Given the description of an element on the screen output the (x, y) to click on. 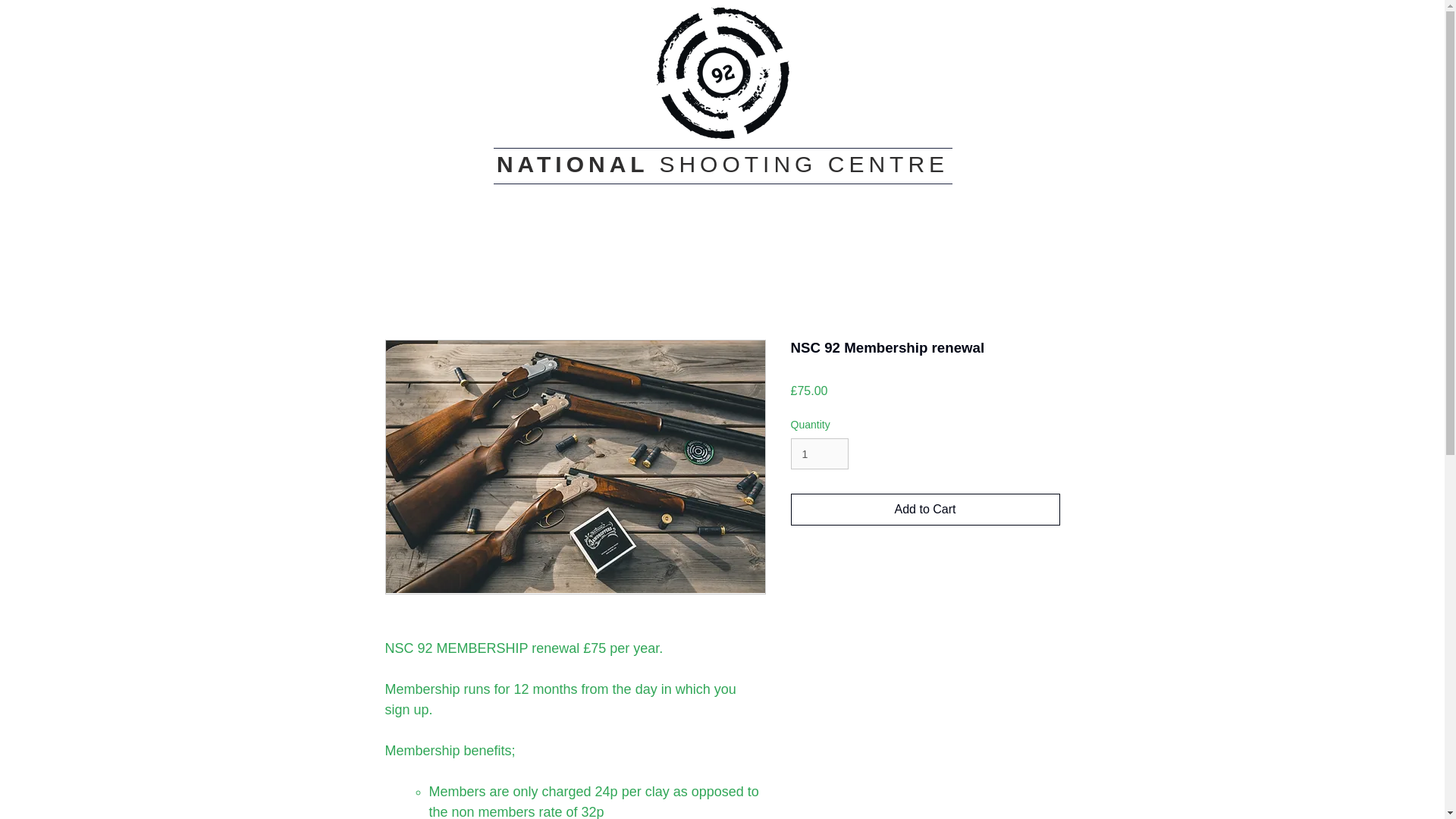
Add to Cart (924, 509)
1 (818, 453)
NATIONAL SHOOTING CENTRE (722, 163)
